Given the description of an element on the screen output the (x, y) to click on. 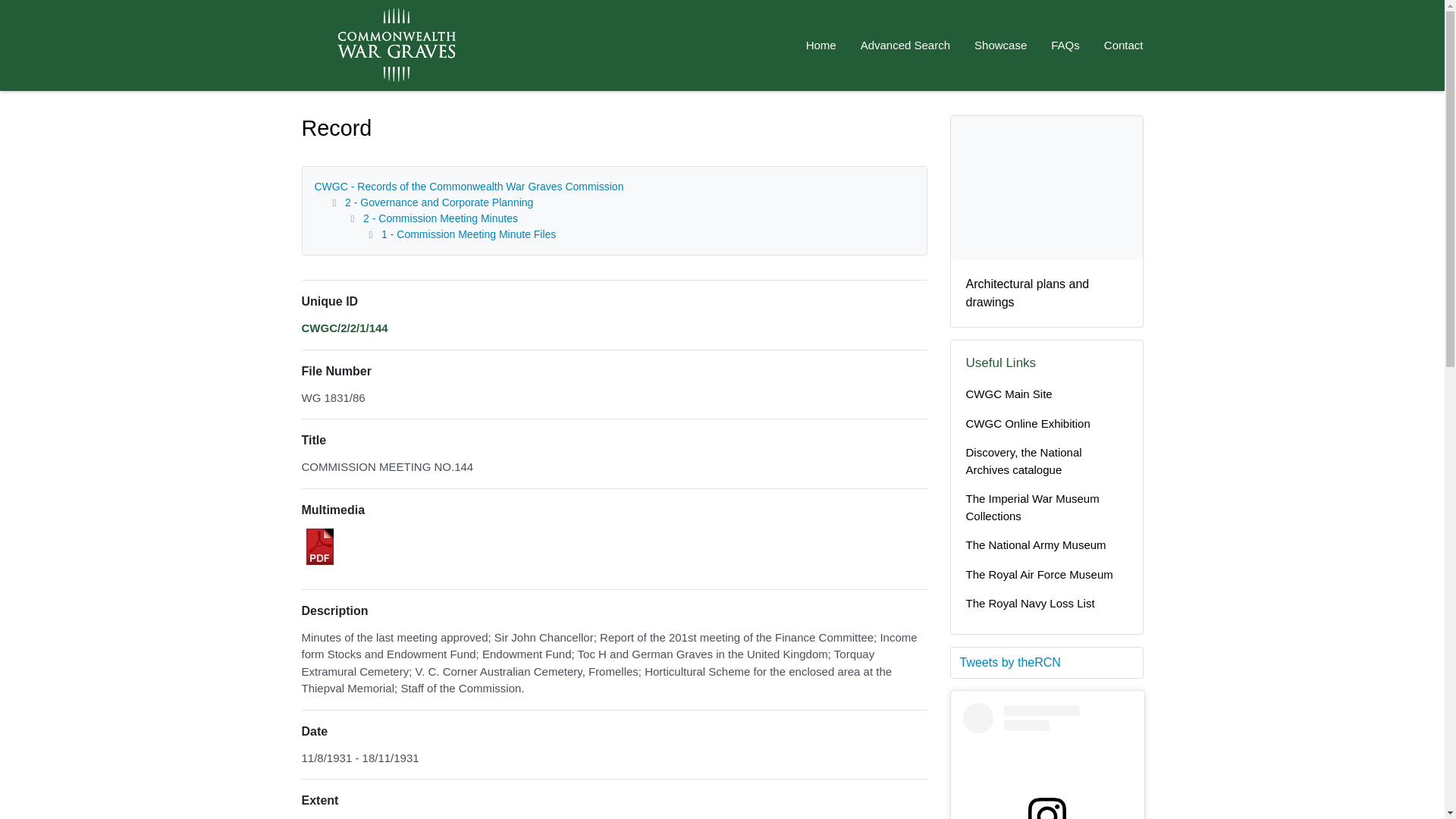
Browse record in hierarchy. (344, 327)
Advanced Search (905, 45)
The Imperial War Museum Collections (1046, 507)
2 - Commission Meeting Minutes (440, 218)
The National Army Museum (1046, 545)
Showcase (1000, 45)
Homepage (343, 45)
Tweets by theRCN (1046, 662)
CWGC Main Site (1046, 394)
2 - Governance and Corporate Planning (438, 202)
The Royal Air Force Museum (1046, 574)
Discovery, the National Archives catalogue (1046, 461)
View this post on Instagram (1047, 760)
CWGC - Records of the Commonwealth War Graves Commission (468, 186)
The Royal Navy Loss List (1046, 603)
